Given the description of an element on the screen output the (x, y) to click on. 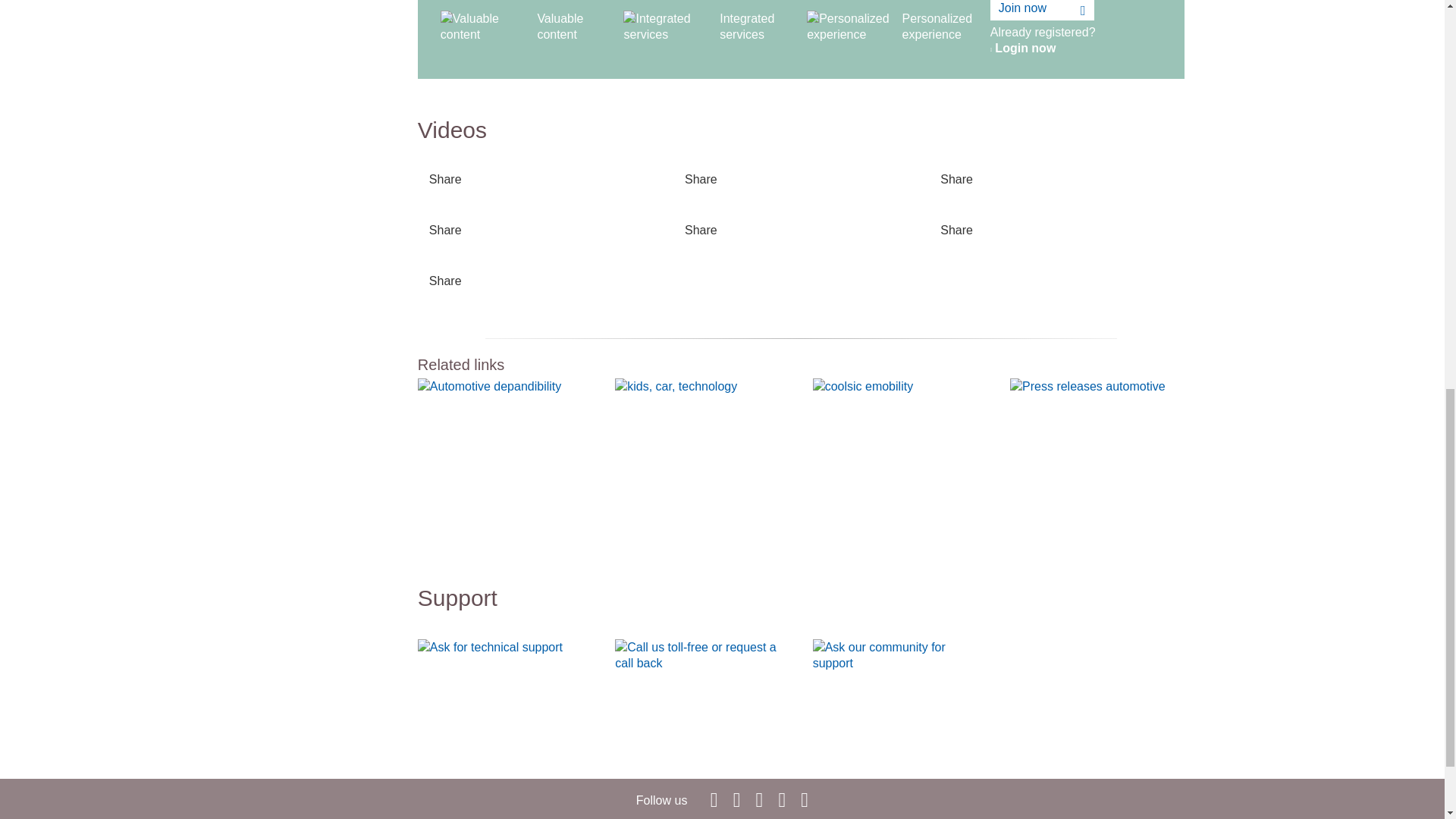
Infineon (781, 798)
Infineon (759, 798)
Infineon (714, 798)
LinkedIn (736, 798)
Instagram (804, 798)
